Given the description of an element on the screen output the (x, y) to click on. 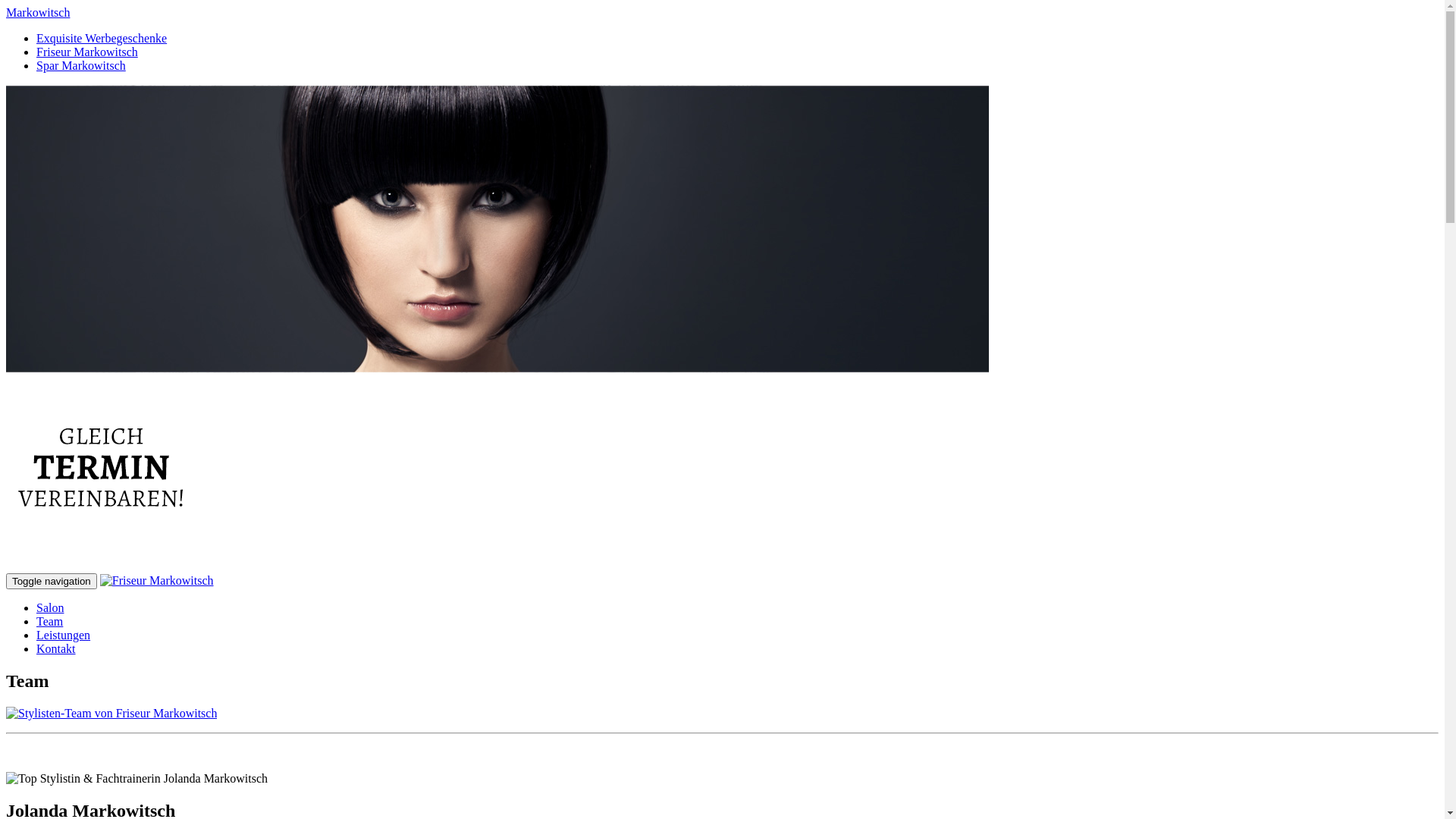
Salon Element type: text (49, 607)
Kontakt Element type: text (55, 648)
Friseur Markowitsch Element type: hover (156, 580)
Team Element type: text (49, 621)
Spar Markowitsch Element type: text (80, 65)
Friseur Markowitsch Element type: text (87, 51)
Toggle navigation Element type: text (51, 581)
Markowitsch Element type: text (37, 12)
Exquisite Werbegeschenke Element type: text (101, 37)
Leistungen Element type: text (63, 634)
